Given the description of an element on the screen output the (x, y) to click on. 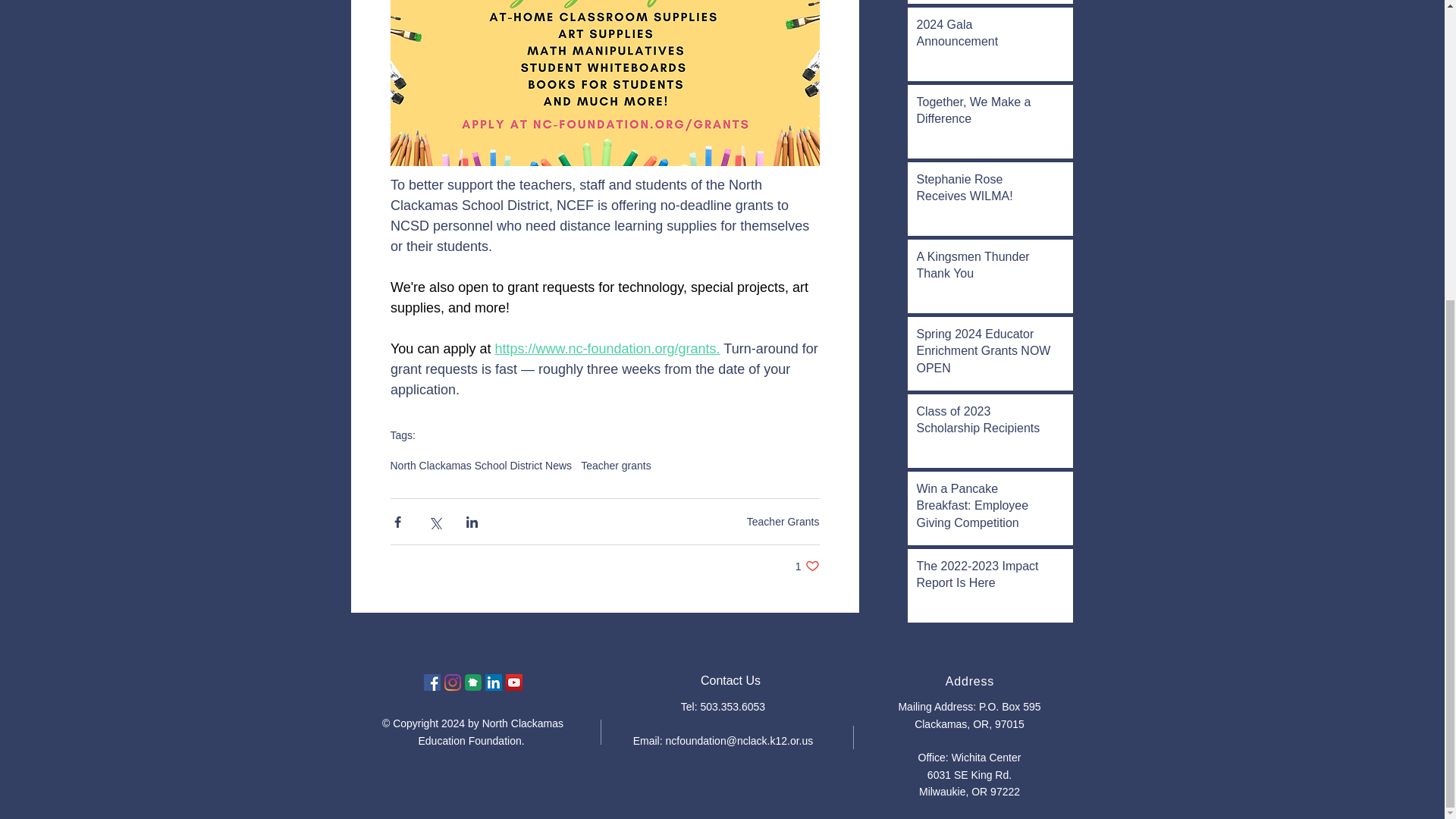
The 2022-2023 Impact Report Is Here (983, 577)
Teacher grants (615, 465)
Class of 2023 Scholarship Recipients (983, 423)
2024 Gala Announcement (983, 36)
Spring 2024 Educator Enrichment Grants NOW OPEN (983, 354)
Teacher Grants (806, 565)
Together, We Make a Difference (782, 521)
North Clackamas School District News (983, 114)
Win a Pancake Breakfast: Employee Giving Competition (481, 465)
